Given the description of an element on the screen output the (x, y) to click on. 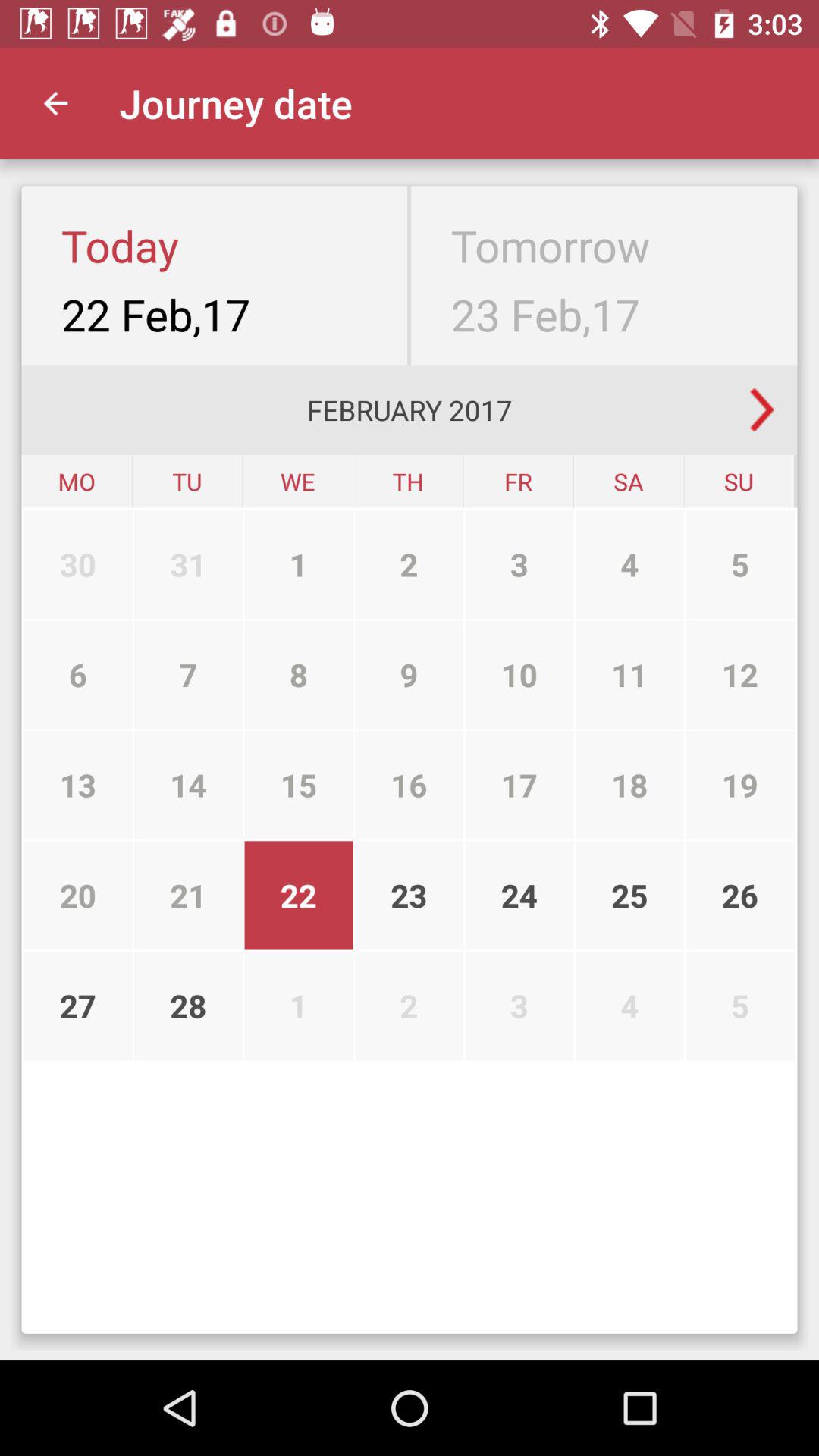
go to next month (762, 410)
